Given the description of an element on the screen output the (x, y) to click on. 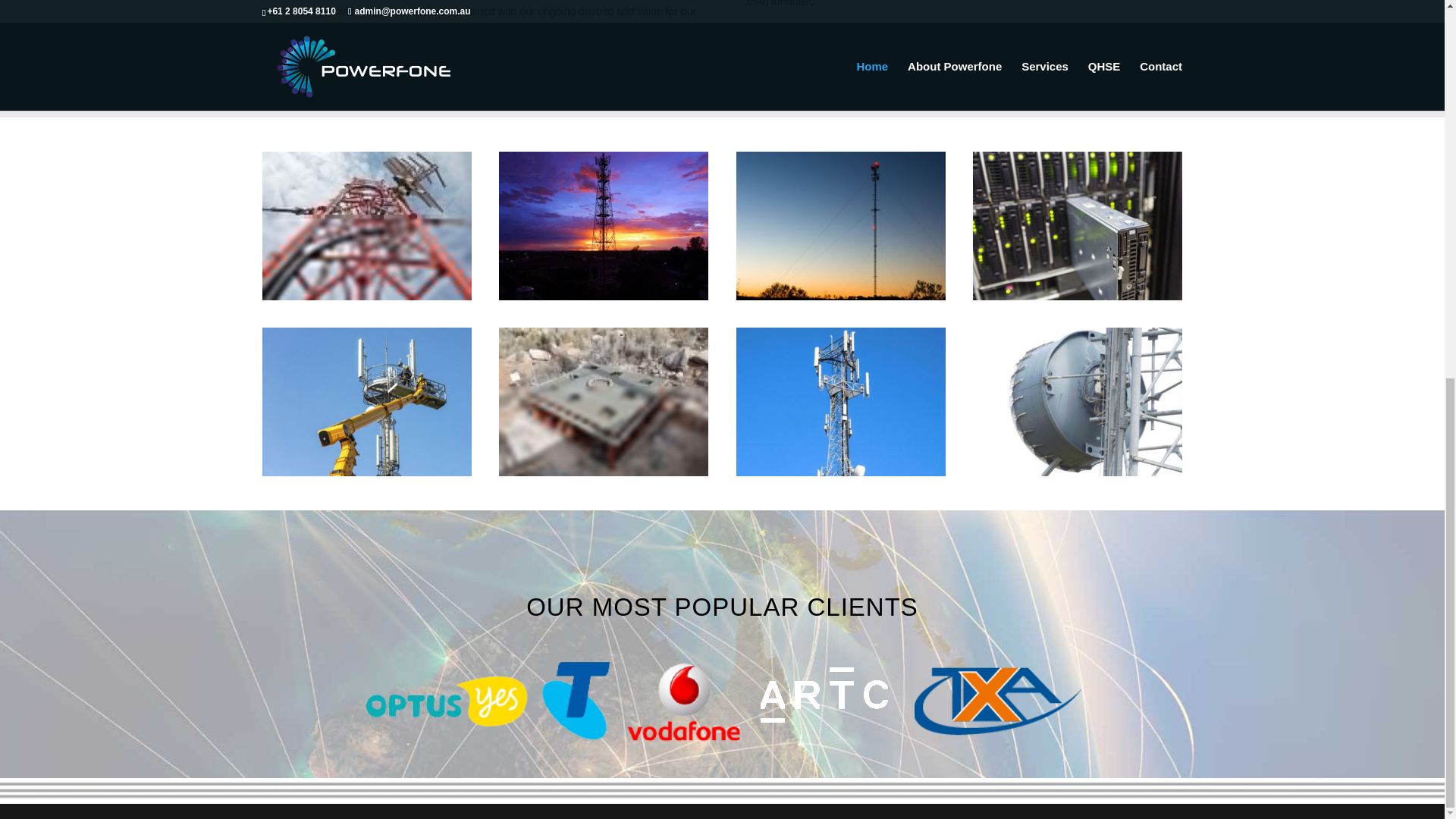
Powerfone Communications (603, 472)
Powerfone Communications (839, 296)
Powerfone Communications (366, 472)
Powerfone Communications (365, 296)
Powerfone Communications (1077, 296)
Powerfone Communications (1077, 472)
logos-powerfone (722, 700)
Powerfone Communications (840, 472)
Powerfone Communications (602, 296)
